Given the description of an element on the screen output the (x, y) to click on. 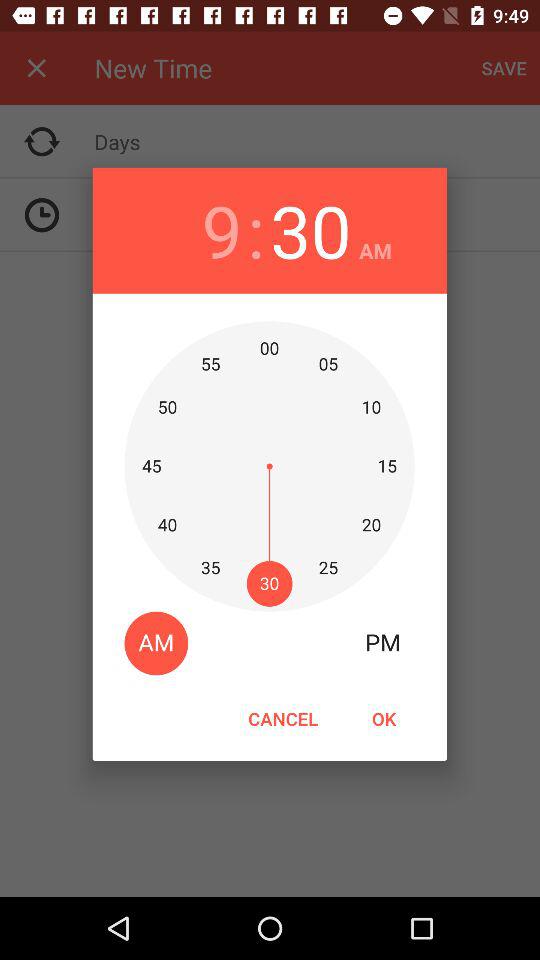
turn off ok at the bottom right corner (383, 718)
